Given the description of an element on the screen output the (x, y) to click on. 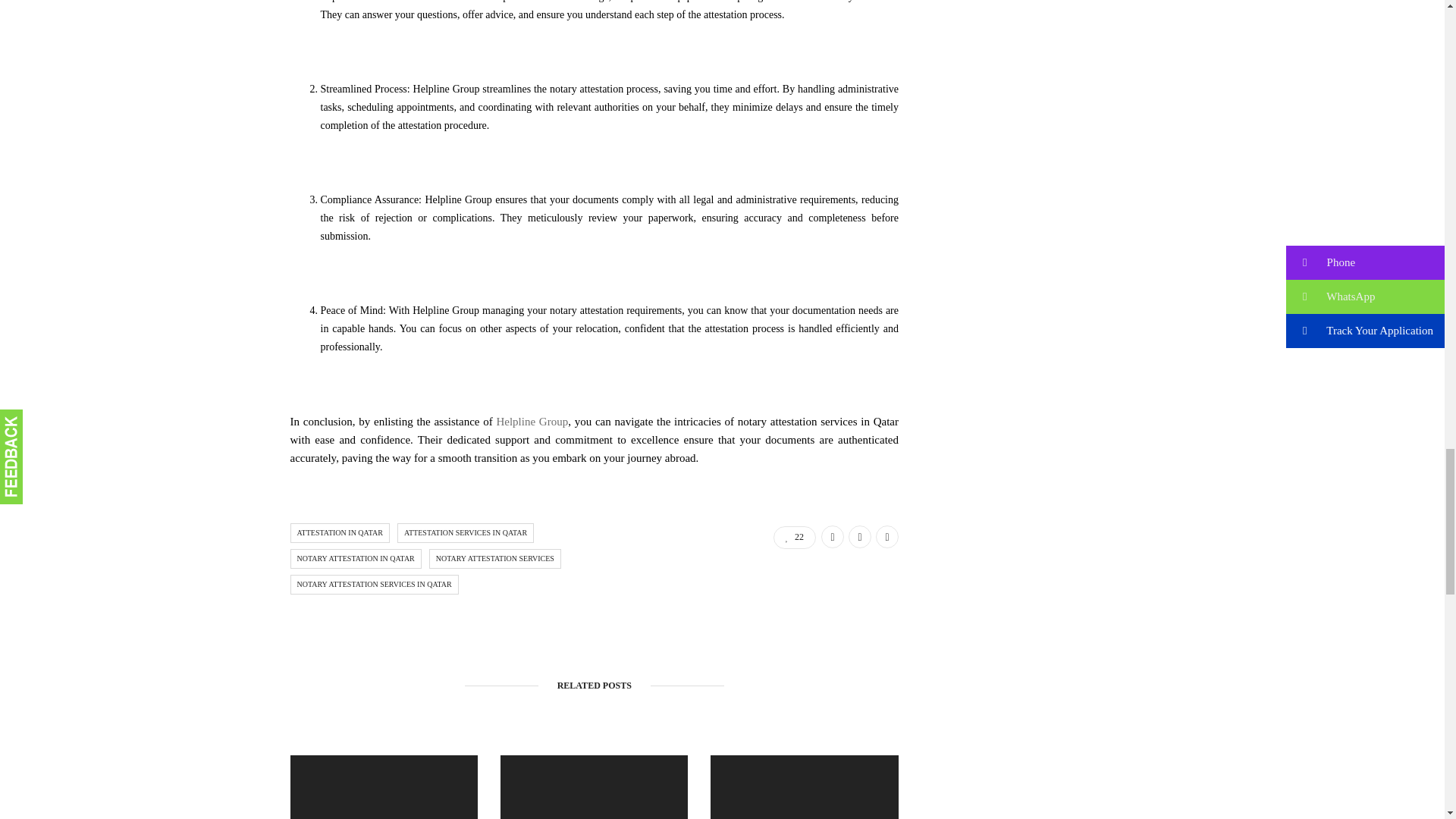
Like (794, 537)
